Given the description of an element on the screen output the (x, y) to click on. 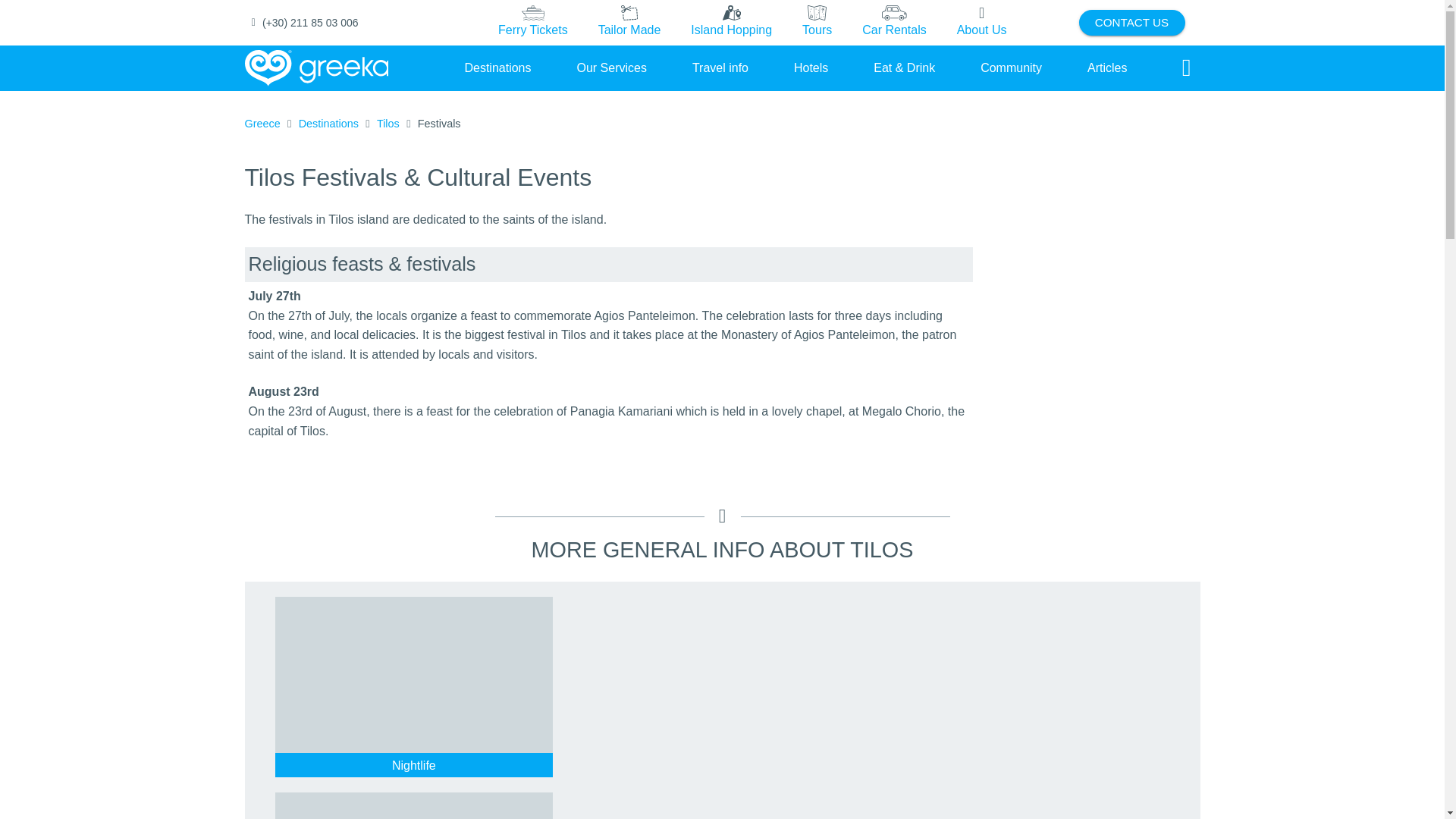
Tailor made services (630, 22)
CONTACT US (1131, 22)
Community (1010, 67)
Car Rentals (893, 22)
About Us (982, 22)
Community Feed (1010, 67)
About Us (981, 22)
Festivals (439, 123)
Articles (1106, 67)
Greece (261, 123)
